Given the description of an element on the screen output the (x, y) to click on. 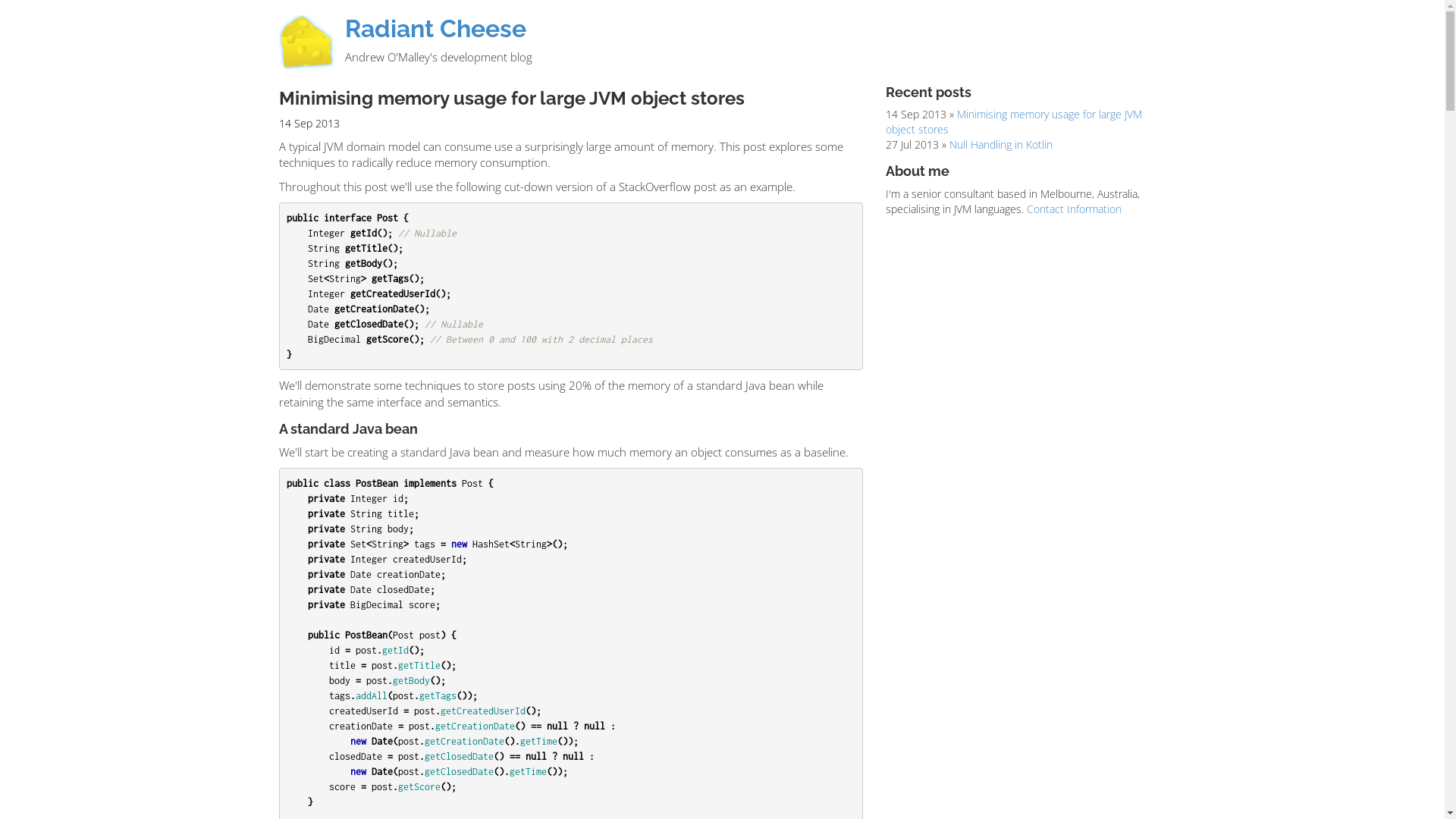
Radiant Cheese Element type: text (434, 28)
Minimising memory usage for large JVM object stores Element type: text (1013, 121)
Contact Information Element type: text (1073, 208)
Null Handling in Kotlin Element type: text (1000, 144)
